Given the description of an element on the screen output the (x, y) to click on. 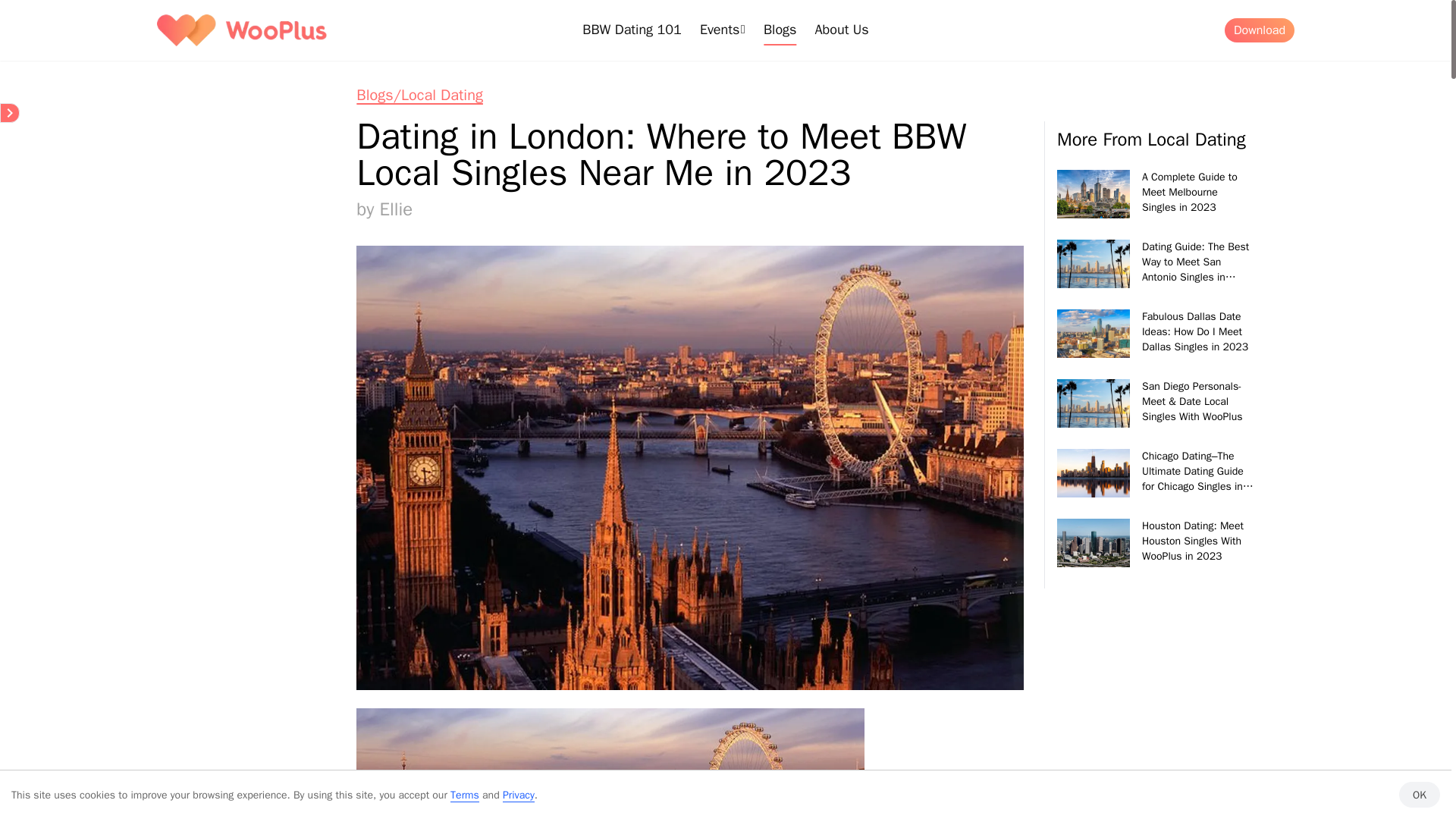
Local Dating (419, 94)
Download (1259, 30)
WooPlus (241, 29)
Blogs (779, 30)
Download (1259, 30)
About Us (840, 30)
Download (1259, 30)
Events (722, 30)
BBW Dating 101 (631, 30)
About Us (840, 30)
Blogs (779, 30)
BBW Dating 101 (631, 30)
